Given the description of an element on the screen output the (x, y) to click on. 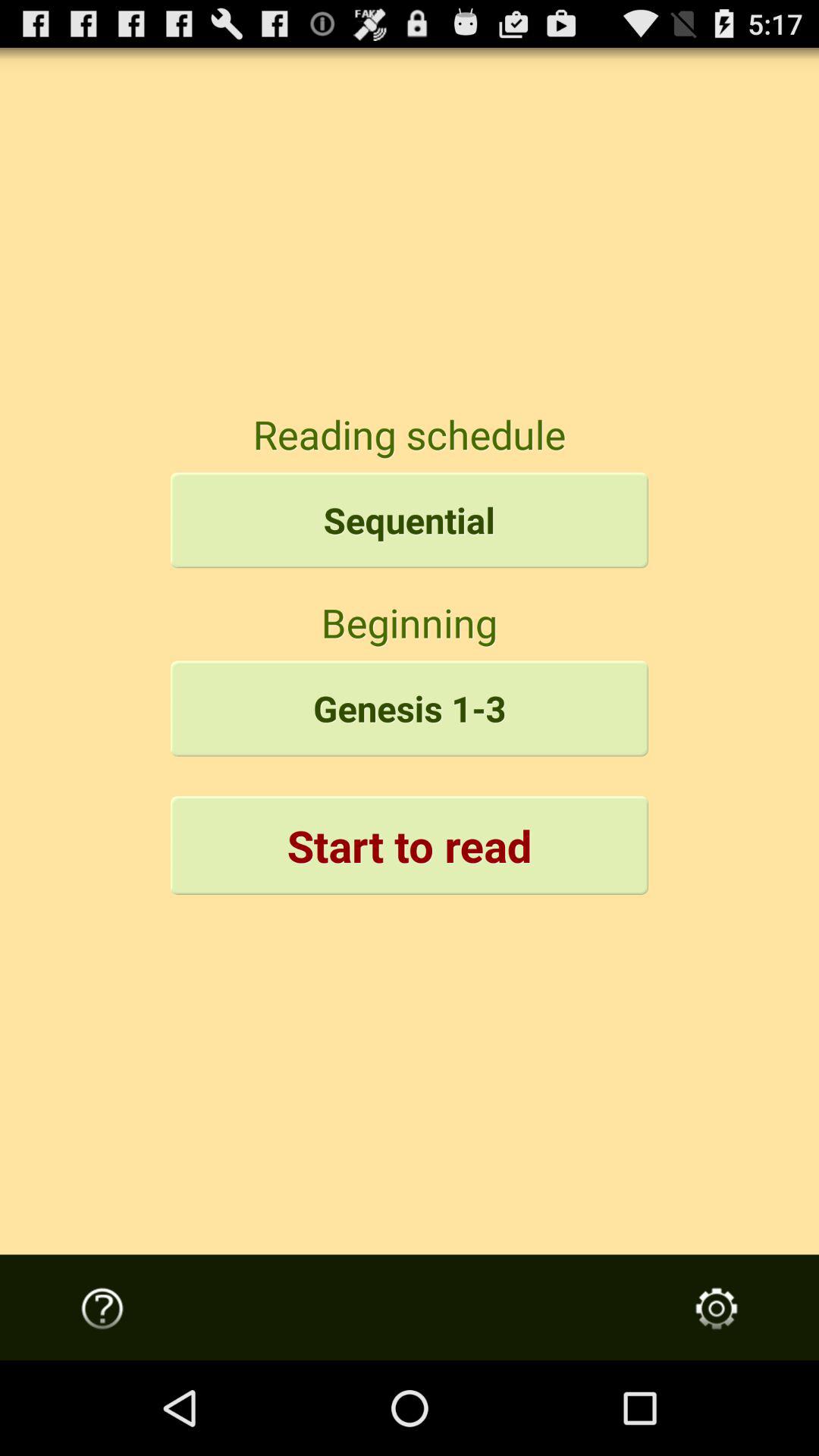
click the icon above start to read item (409, 708)
